Given the description of an element on the screen output the (x, y) to click on. 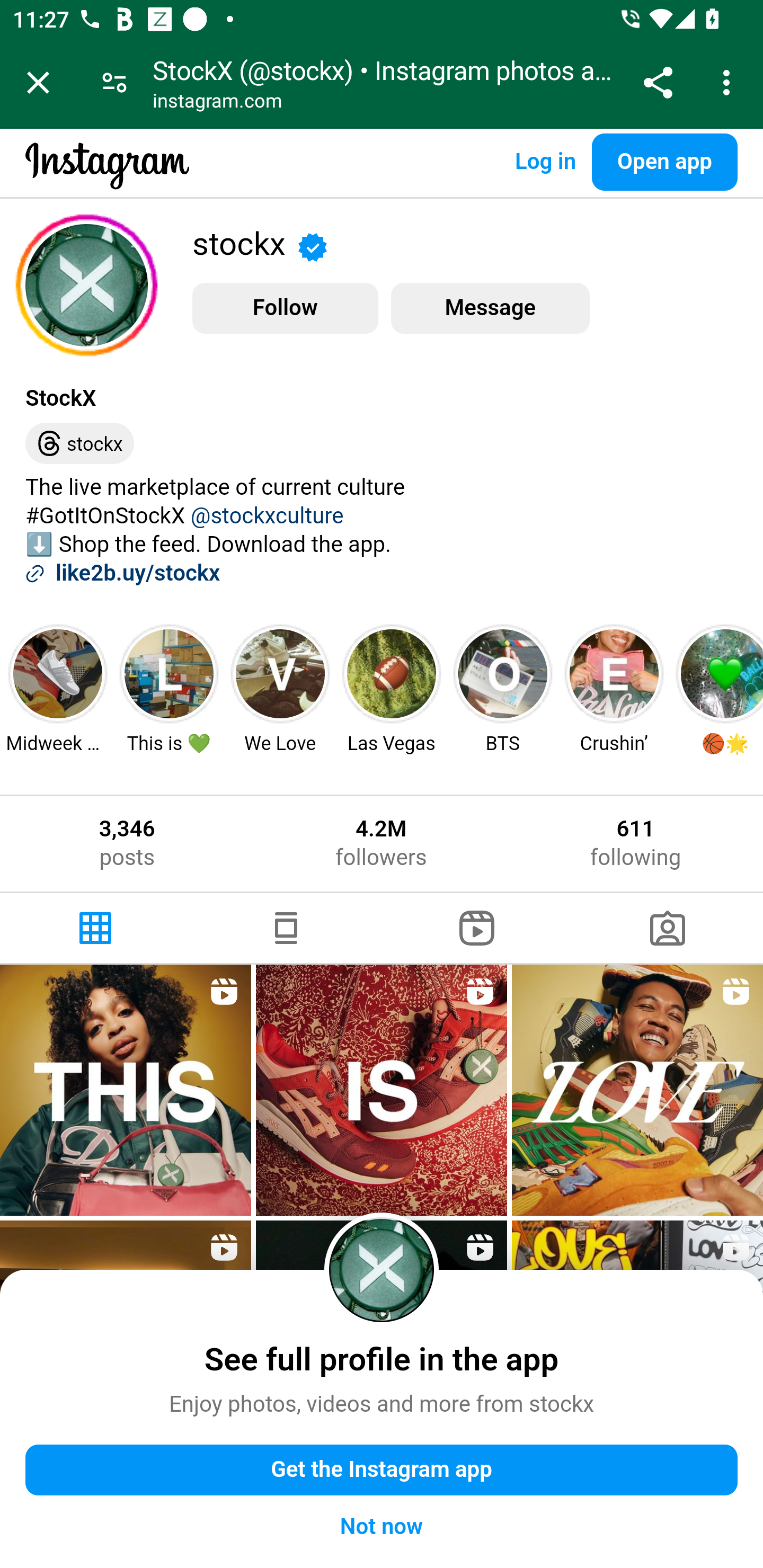
Close tab (38, 82)
Share (657, 82)
Customize and control Google Chrome (729, 82)
Connection is secure (114, 81)
instagram.com (217, 103)
Log in (544, 162)
Open app (664, 162)
stockx's profile picture (86, 285)
Follow (285, 307)
Message (489, 307)
Threads stockx Threads stockx (80, 443)
@stockxculture (266, 515)
like2b.uy/stockx (138, 573)
🏀🌟's profile picture 🏀🌟 🏀🌟's profile picture 🏀🌟 (717, 687)
Midweek Heat's profile picture (57, 673)
This is 💚's profile picture (168, 673)
We Love's profile picture (280, 673)
Las Vegas's profile picture (391, 673)
BTS's profile picture (502, 673)
Crushin’'s profile picture (614, 673)
🏀🌟's profile picture (721, 673)
3,346 posts (126, 843)
4.2M followers (380, 843)
611 following (635, 843)
Posts (95, 927)
Feed (285, 927)
Reels (476, 927)
Tagged (667, 927)
stockx's profile picture (381, 1269)
Get the Instagram app (381, 1469)
Not now (381, 1527)
